Given the description of an element on the screen output the (x, y) to click on. 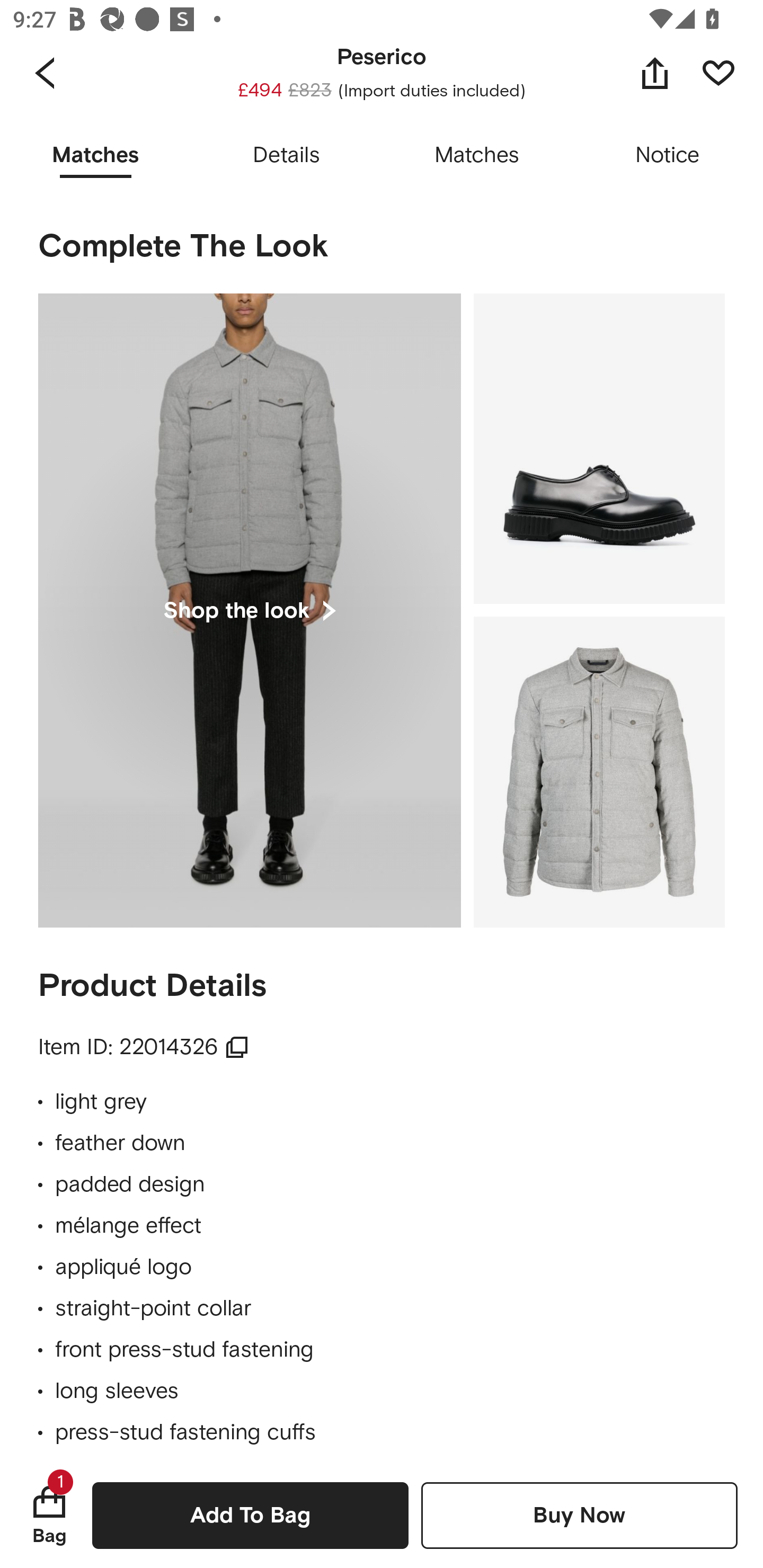
Select 5 size(s) available (381, 54)
Select 5 size(s) available (381, 71)
Details (285, 155)
Matches (476, 155)
Notice (667, 155)
Item ID: 22014326 (143, 1047)
Bag 1 (49, 1515)
Add To Bag (250, 1515)
Buy Now (579, 1515)
